Given the description of an element on the screen output the (x, y) to click on. 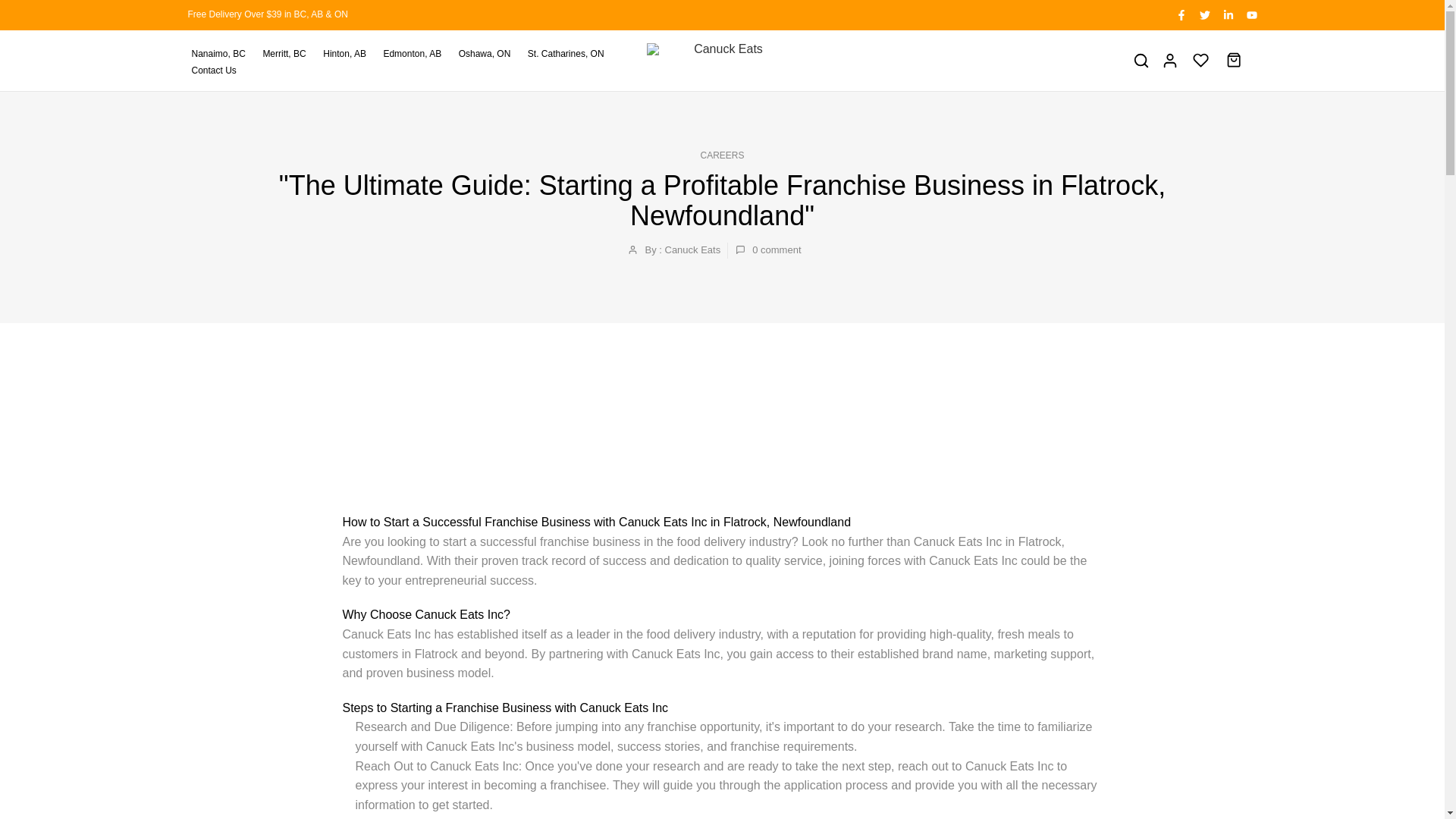
Edmonton, AB (416, 53)
Merritt, BC (288, 53)
Contact Us (218, 70)
Hinton, AB (348, 53)
CAREERS (722, 154)
Follow on YouTube (1250, 14)
Follow on Linkedin (1227, 14)
Oshawa, ON (489, 53)
Follow on Facebook (1179, 14)
0 comment (767, 250)
St. Catharines, ON (570, 53)
Skip to content (10, 7)
Nanaimo, BC (223, 53)
Follow on Twitter (1203, 14)
